Given the description of an element on the screen output the (x, y) to click on. 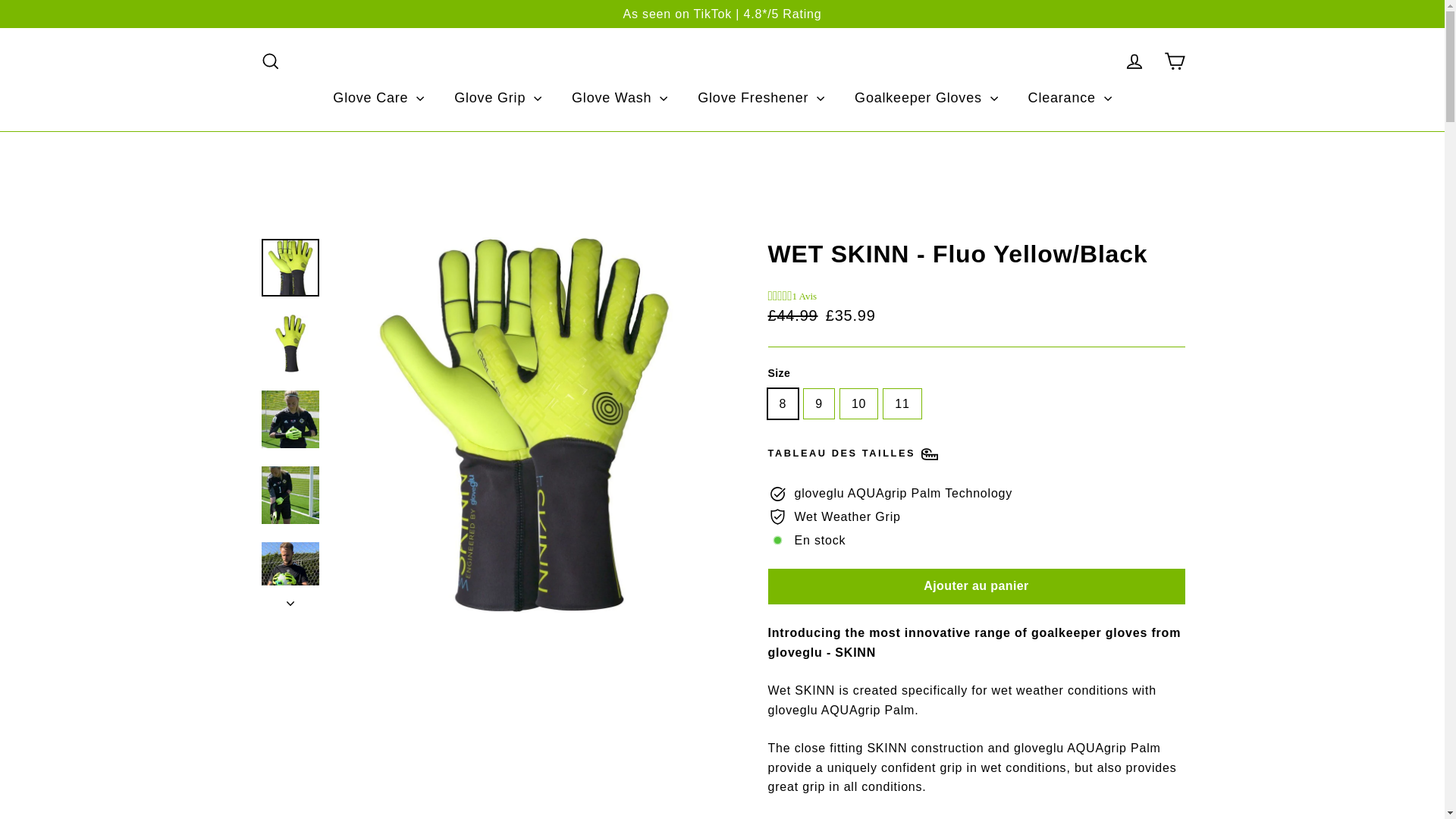
icon-search (270, 61)
account (1134, 61)
icon-cart (1174, 61)
